Given the description of an element on the screen output the (x, y) to click on. 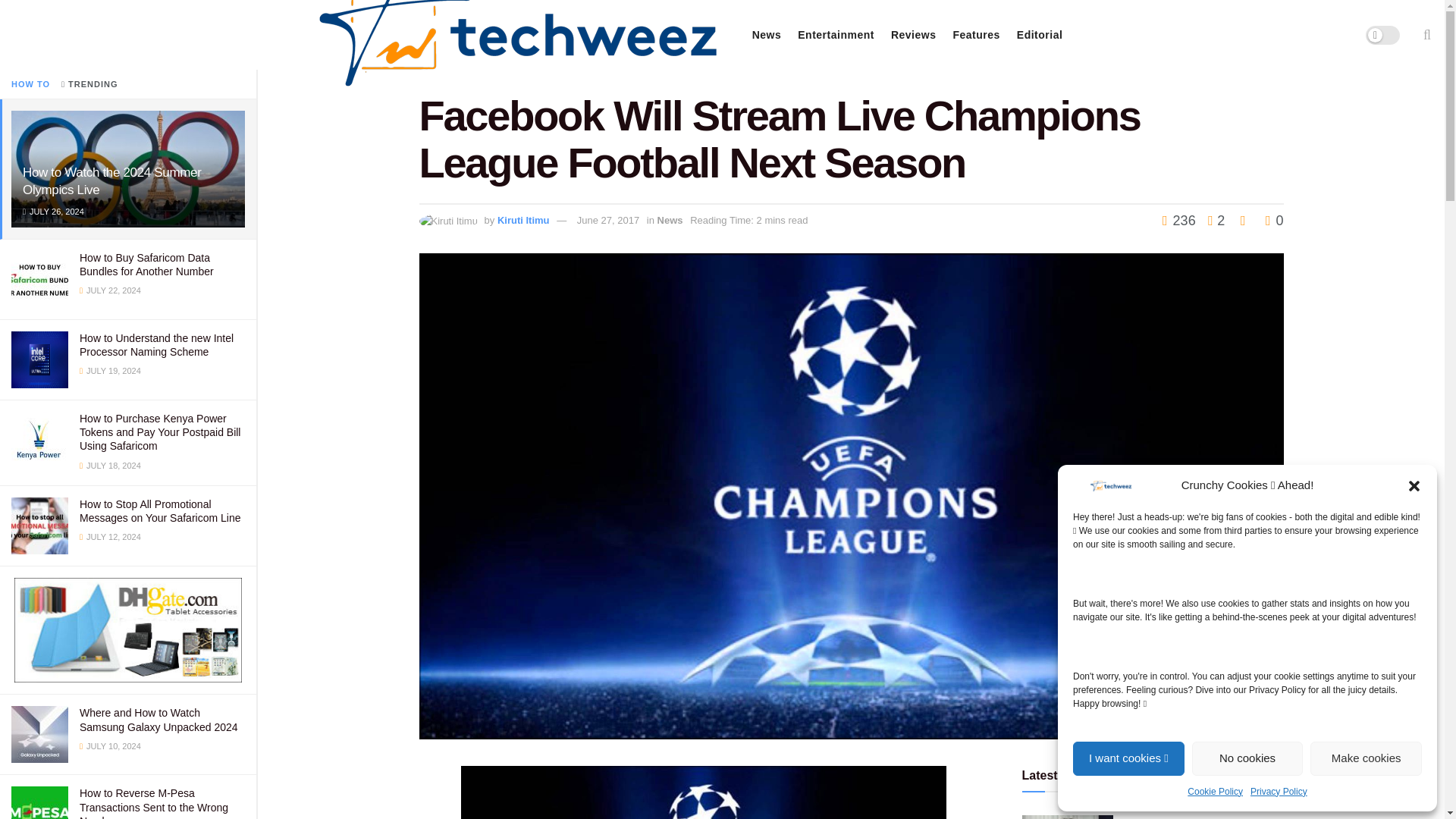
Cookie Policy (1215, 791)
How to Buy Safaricom Data Bundles for Another Number (147, 264)
Make cookies (1366, 758)
No cookies (1247, 758)
Privacy Policy (1278, 791)
How to Stop All Promotional Messages on Your Safaricom Line (160, 510)
How to Reverse M-Pesa Transactions Sent to the Wrong Number (154, 803)
How to Watch the 2024 Summer Olympics Live (112, 181)
Where and How to Watch Samsung Galaxy Unpacked 2024 (159, 719)
DHgate Tablet Cases deals (127, 630)
How to Understand the new Intel Processor Naming Scheme (156, 344)
